Given the description of an element on the screen output the (x, y) to click on. 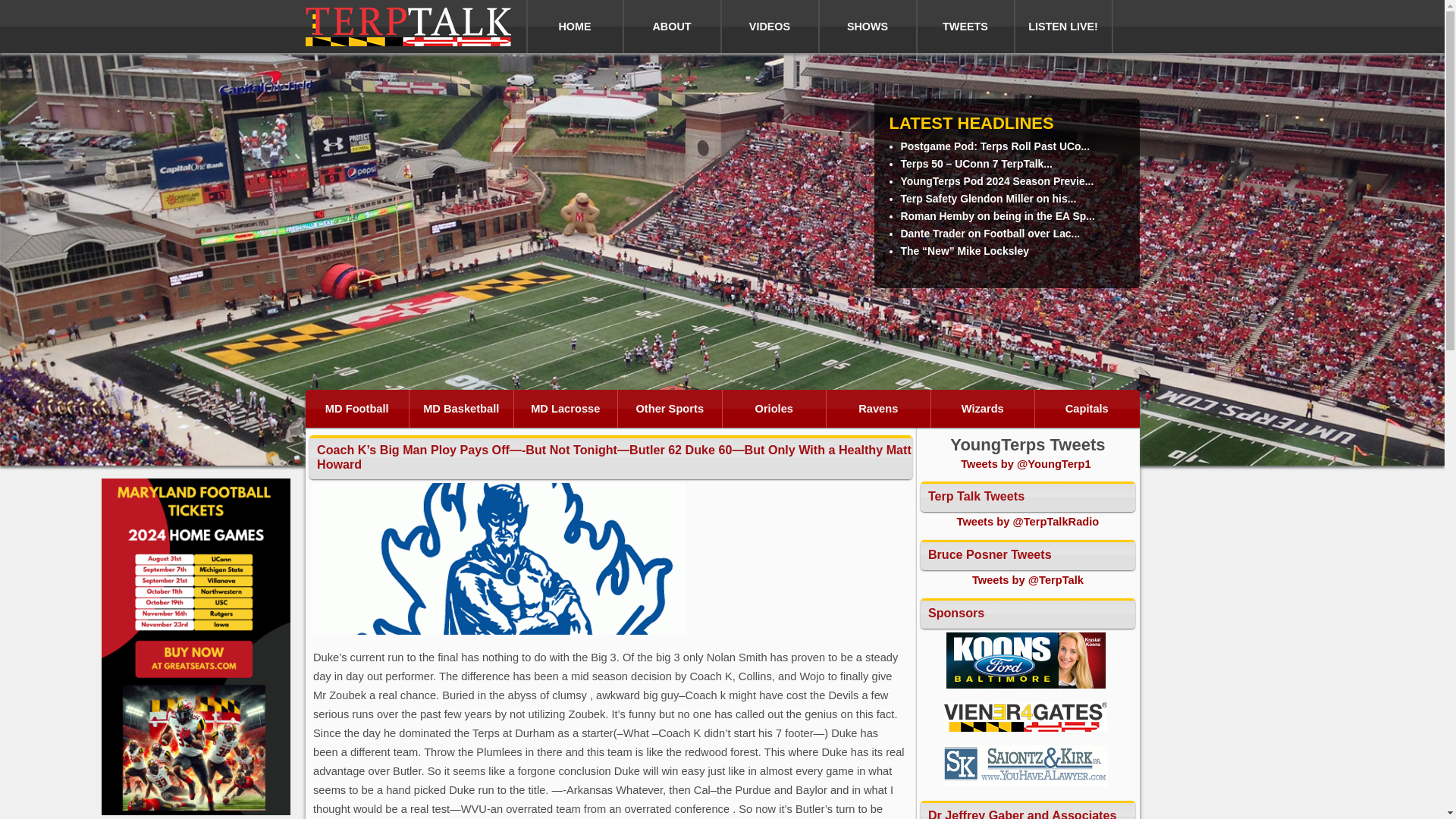
Postgame Pod: Terps Roll Past UCo... (995, 146)
MD Football (356, 408)
MD Lacrosse (565, 408)
LISTEN LIVE! (1063, 26)
Videos (770, 26)
Roman Hemby on being in the EA Sp... (997, 215)
TWEETS (965, 26)
About (671, 26)
YoungTerps Pod 2024 Season Previe... (997, 181)
VIDEOS (770, 26)
